Given the description of an element on the screen output the (x, y) to click on. 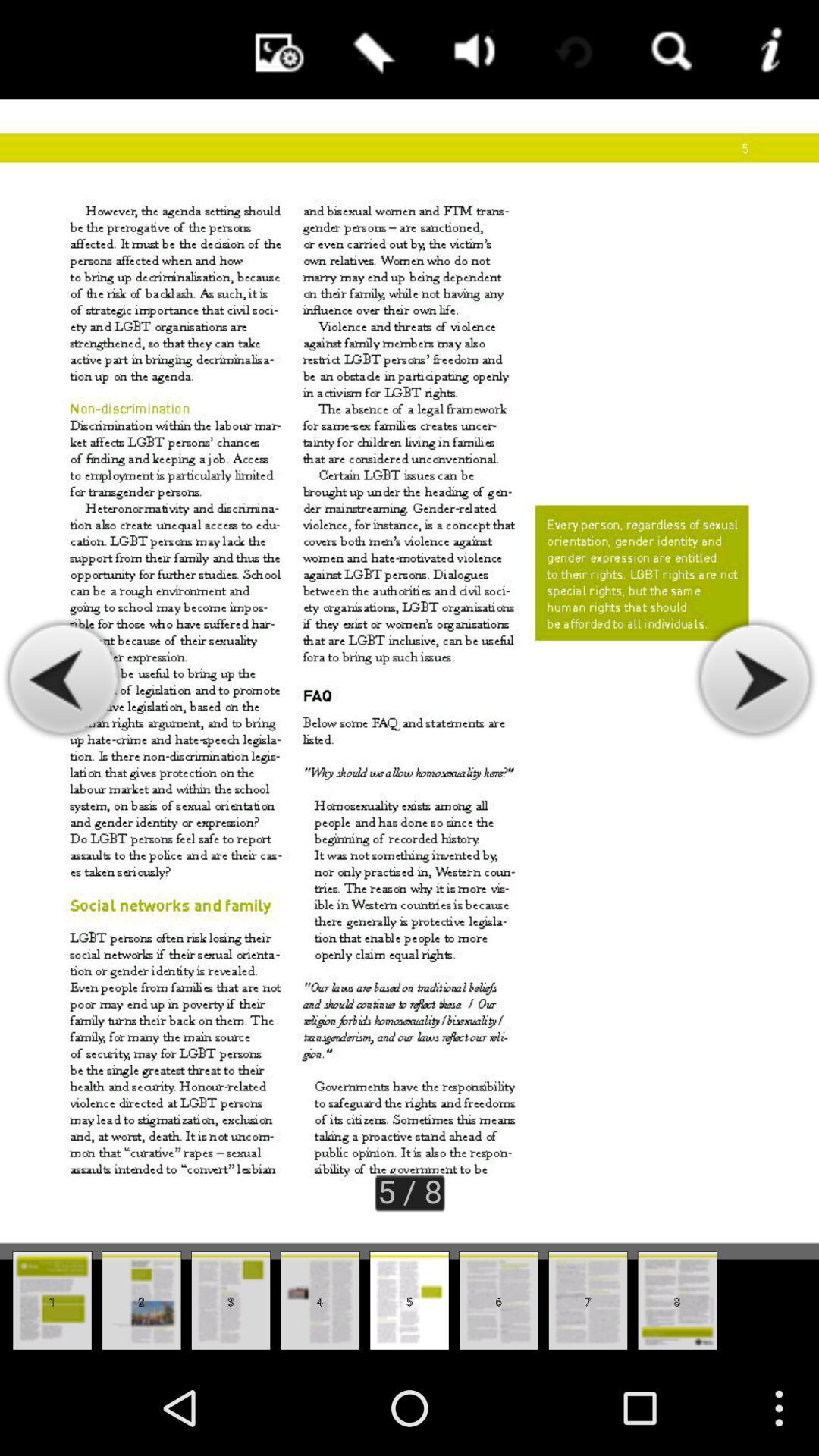
bookmark page (370, 49)
